Given the description of an element on the screen output the (x, y) to click on. 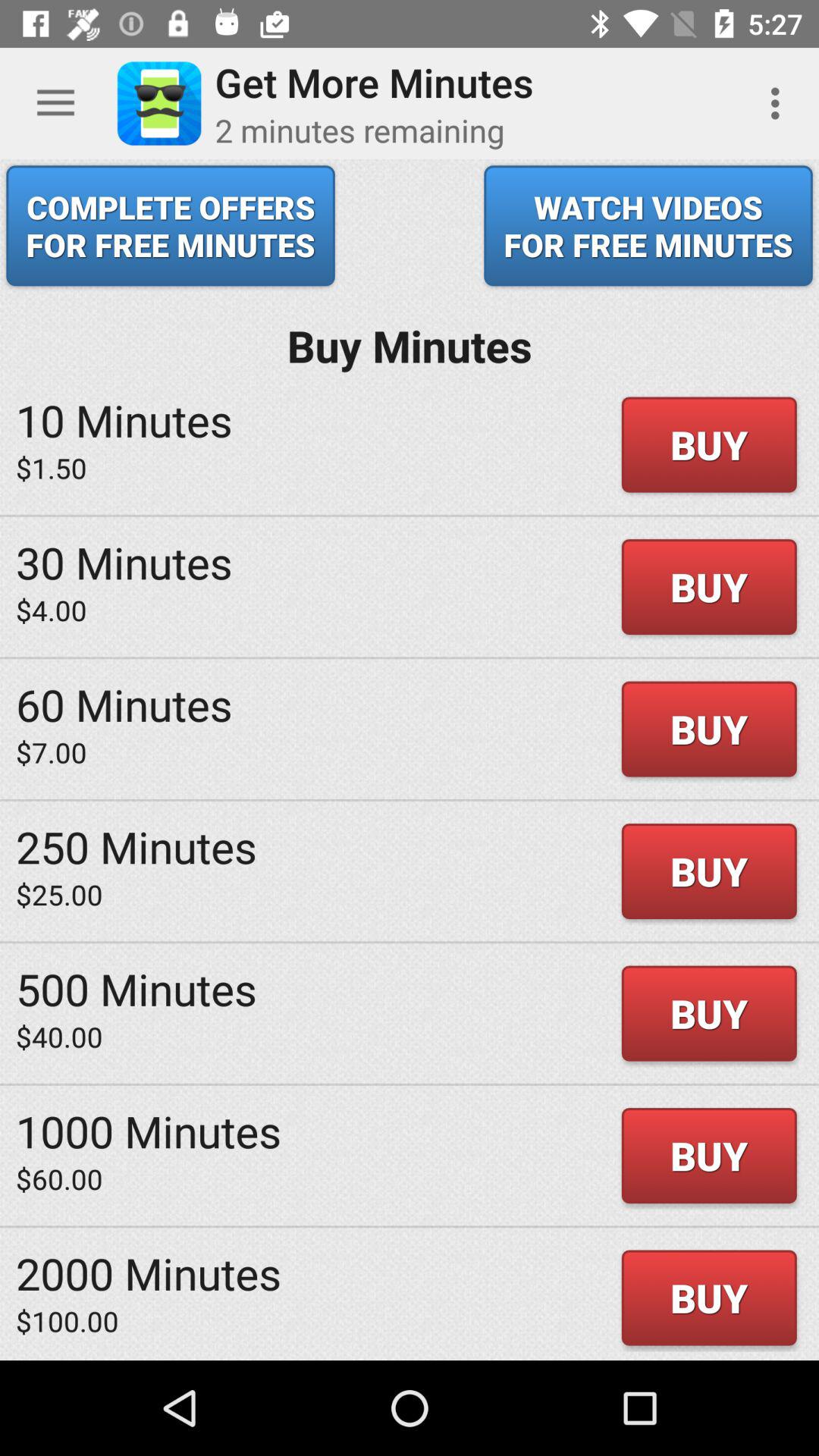
turn on icon above the $100.00 icon (148, 1272)
